Given the description of an element on the screen output the (x, y) to click on. 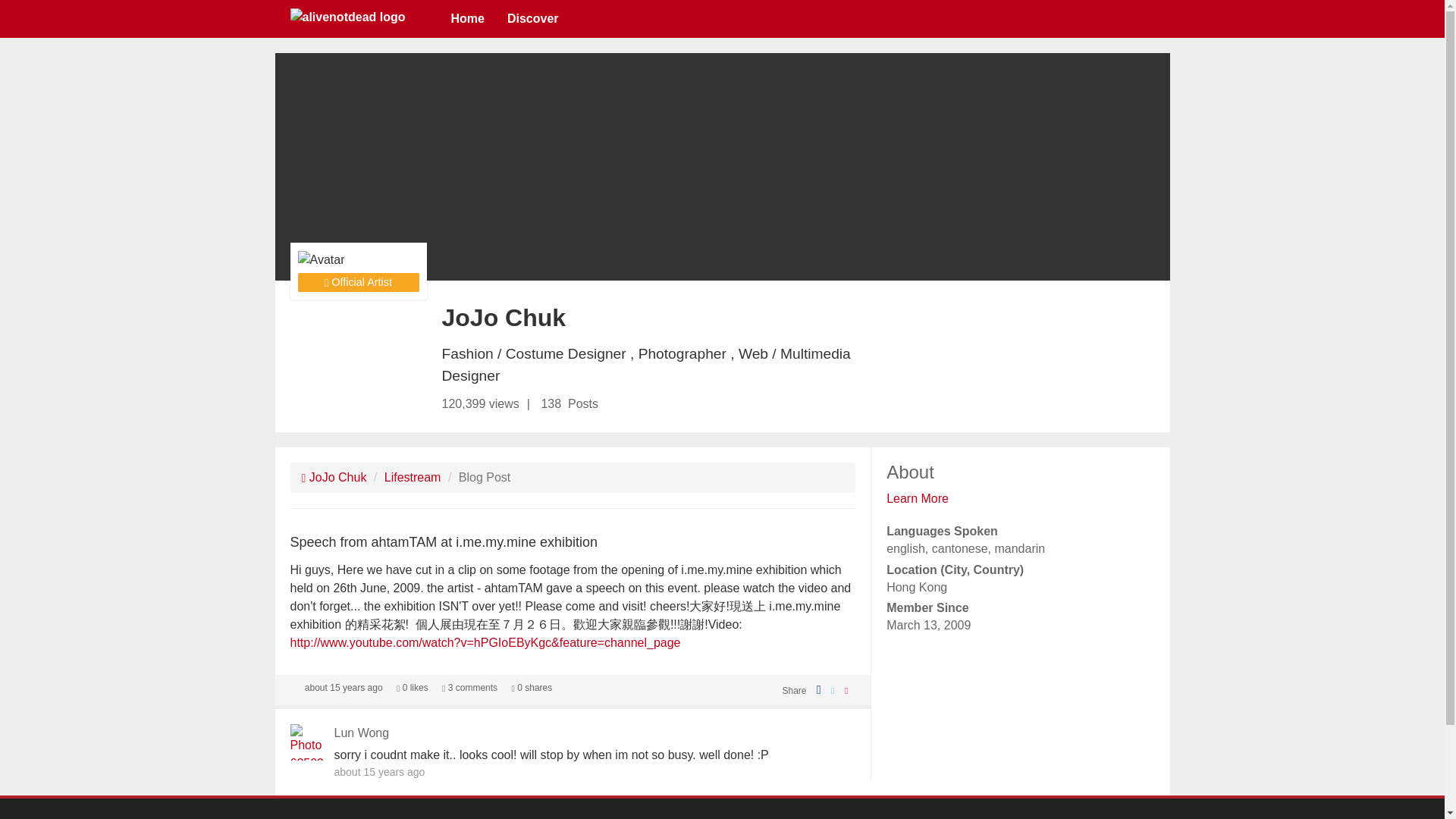
JoJo Chuk (333, 477)
Lifestream (412, 477)
Home (467, 18)
Learn More (917, 498)
about 15 years ago (343, 687)
Discover (533, 18)
Lun Wong (360, 732)
 3 comments (469, 687)
